Given the description of an element on the screen output the (x, y) to click on. 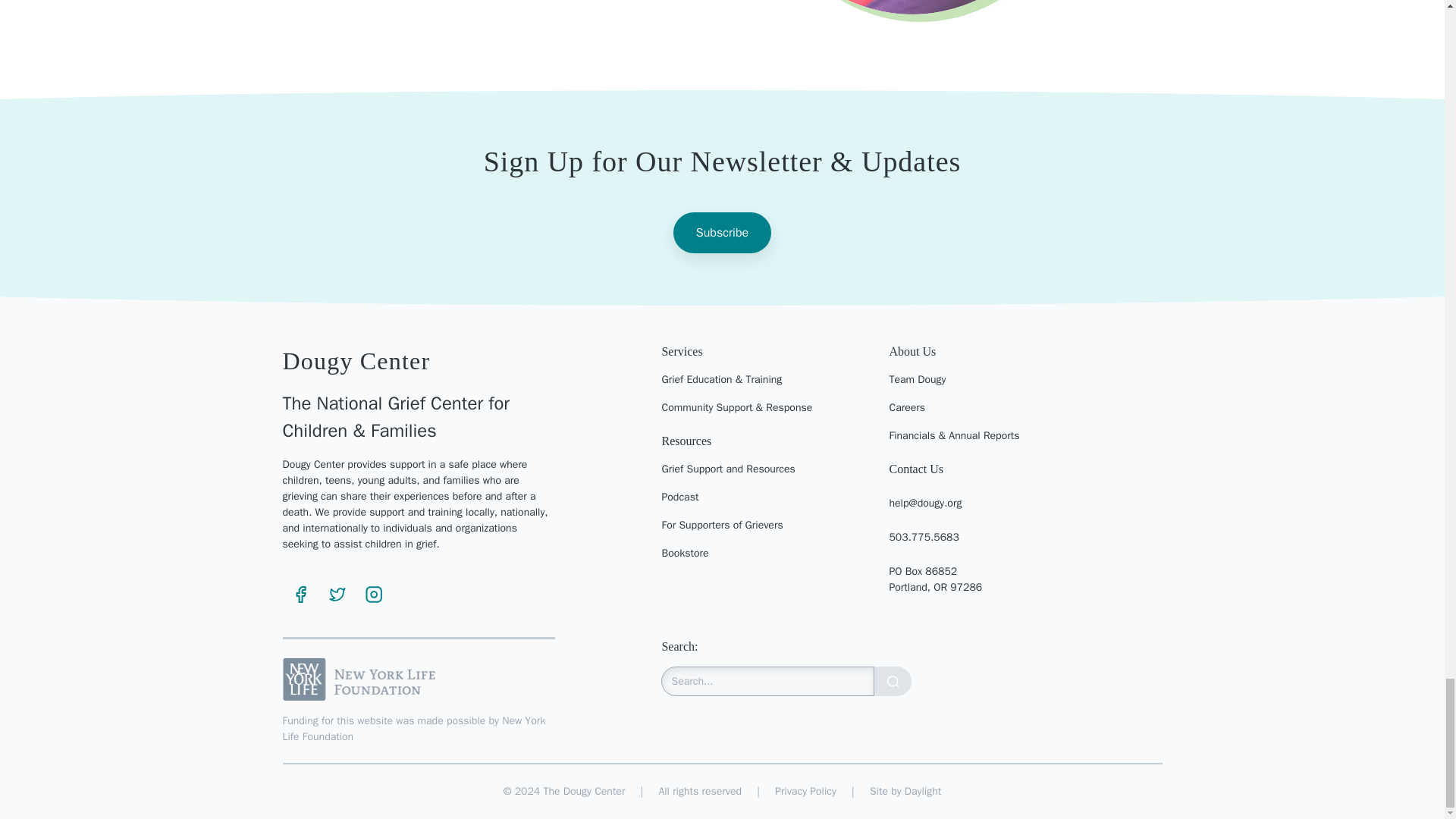
Photo hp 50 circle about the dougy center (911, 7)
